Given the description of an element on the screen output the (x, y) to click on. 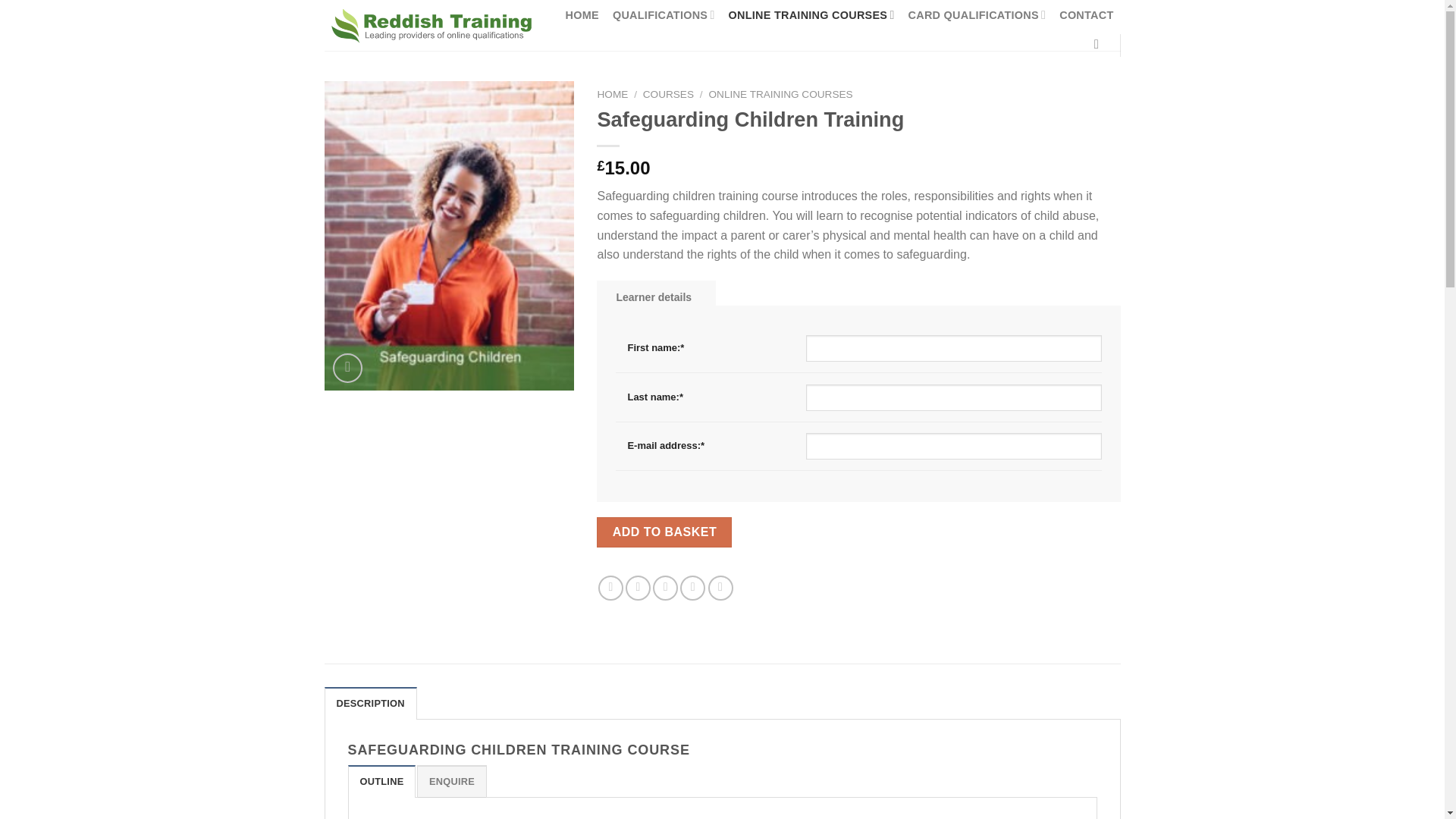
HOME (582, 14)
Share on LinkedIn (720, 587)
ONLINE TRAINING COURSES (812, 14)
Reddish Training - online qualifications nvq (431, 25)
Share on Twitter (638, 587)
Pin on Pinterest (691, 587)
QUALIFICATIONS (663, 14)
Share on Facebook (610, 587)
Email to a Friend (665, 587)
Zoom (347, 367)
